Given the description of an element on the screen output the (x, y) to click on. 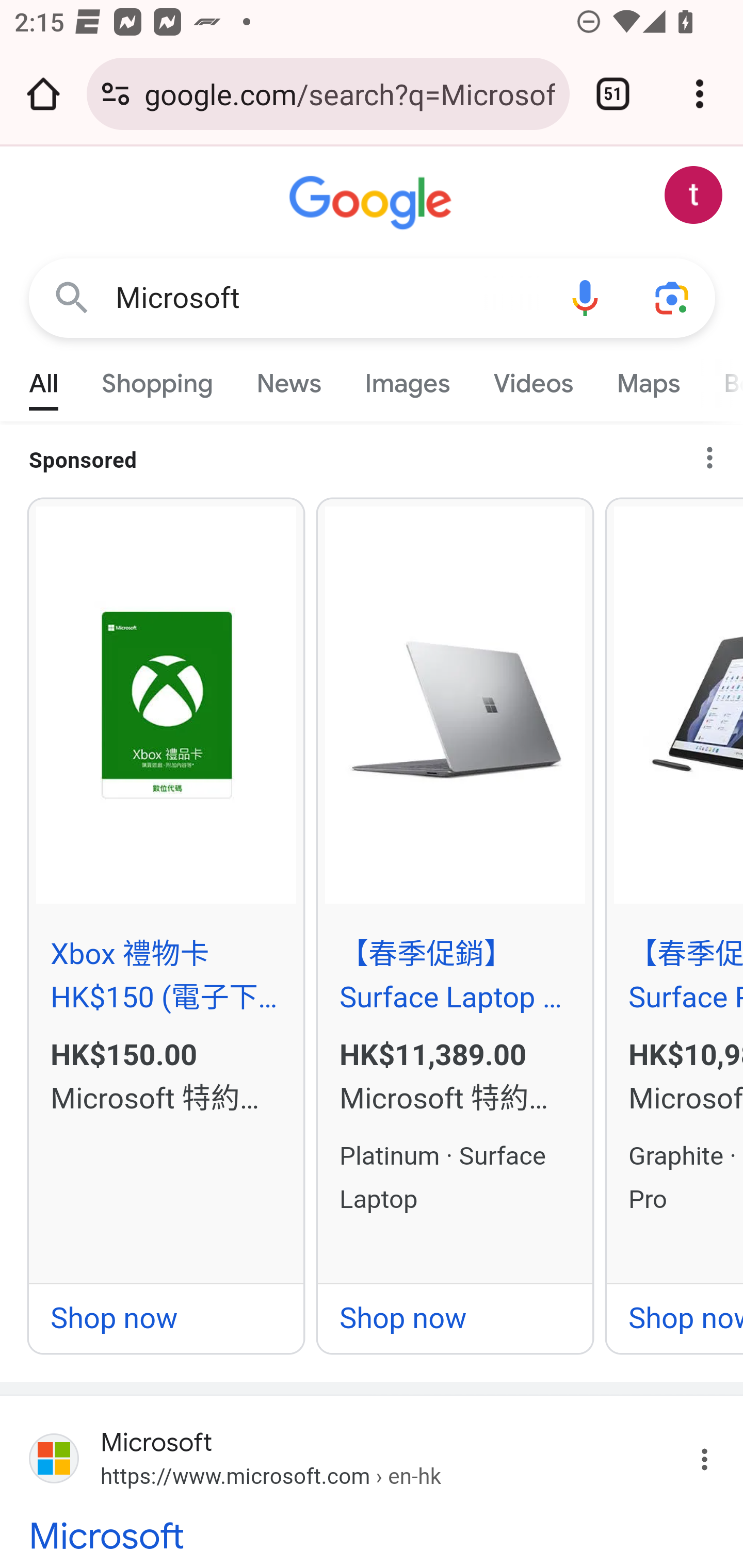
Open the home page (43, 93)
Connection is secure (115, 93)
Switch or close tabs (612, 93)
Customize and control Google Chrome (699, 93)
